Given the description of an element on the screen output the (x, y) to click on. 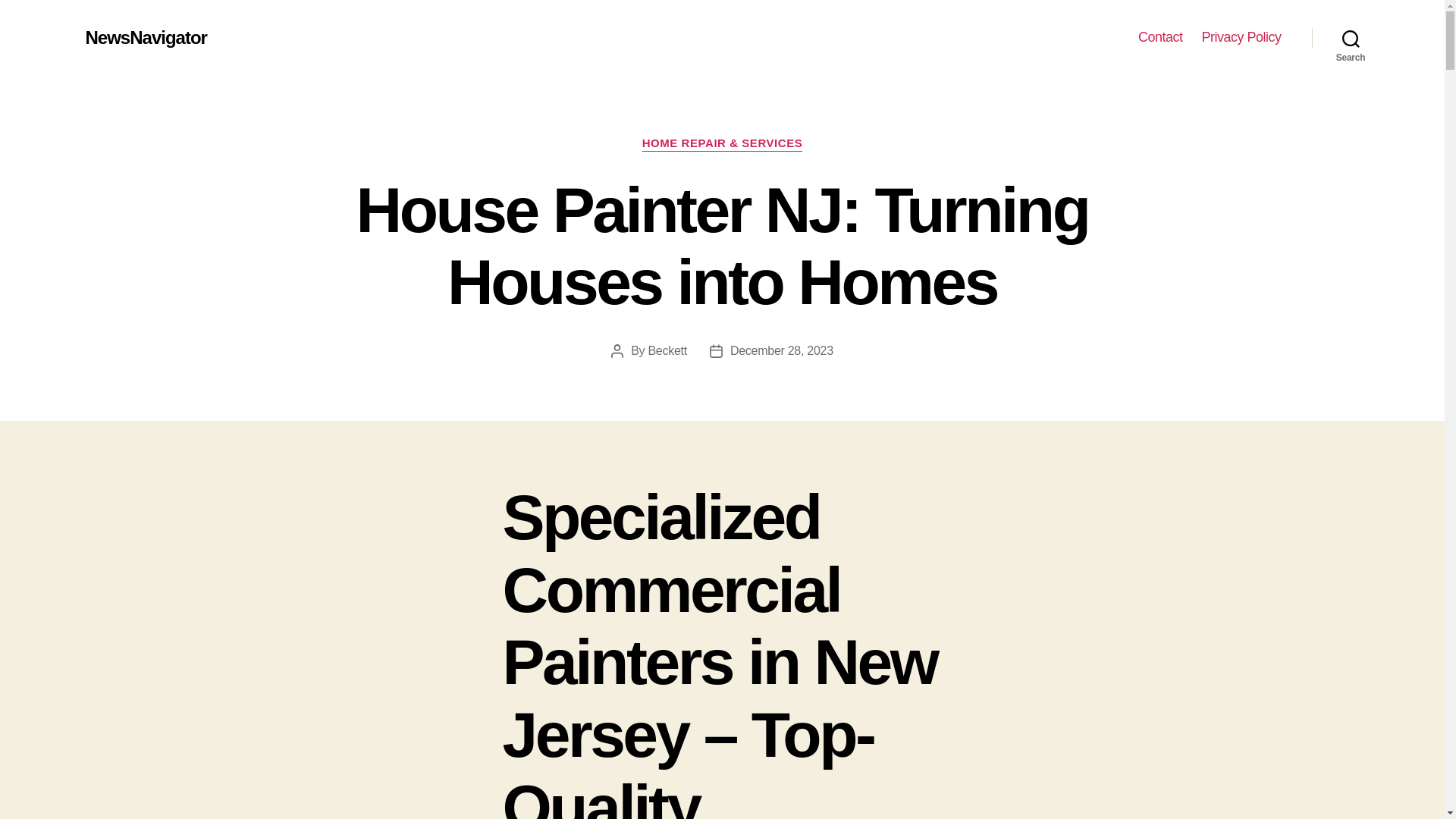
Search (1350, 37)
Privacy Policy (1241, 37)
NewsNavigator (145, 37)
December 28, 2023 (781, 350)
Beckett (666, 350)
Contact (1160, 37)
